Given the description of an element on the screen output the (x, y) to click on. 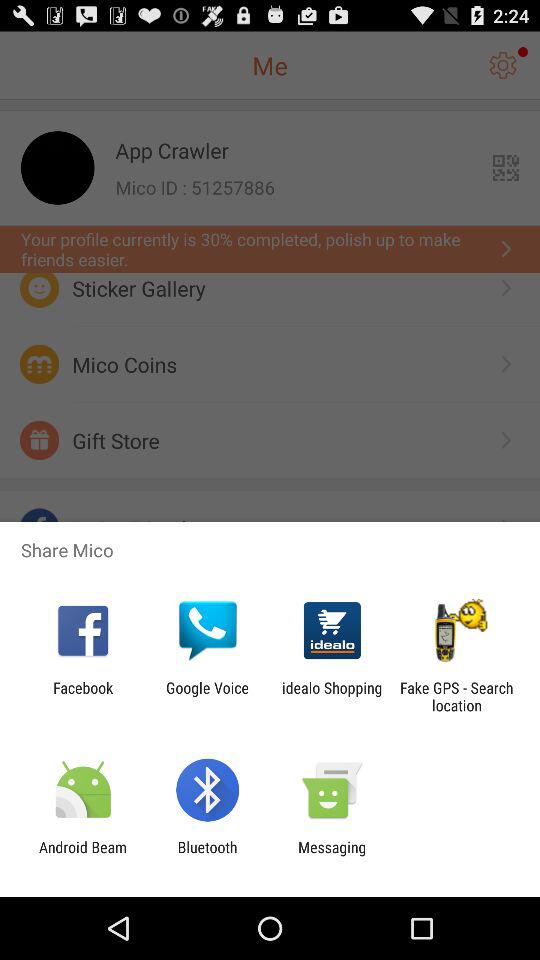
jump until android beam icon (83, 856)
